Given the description of an element on the screen output the (x, y) to click on. 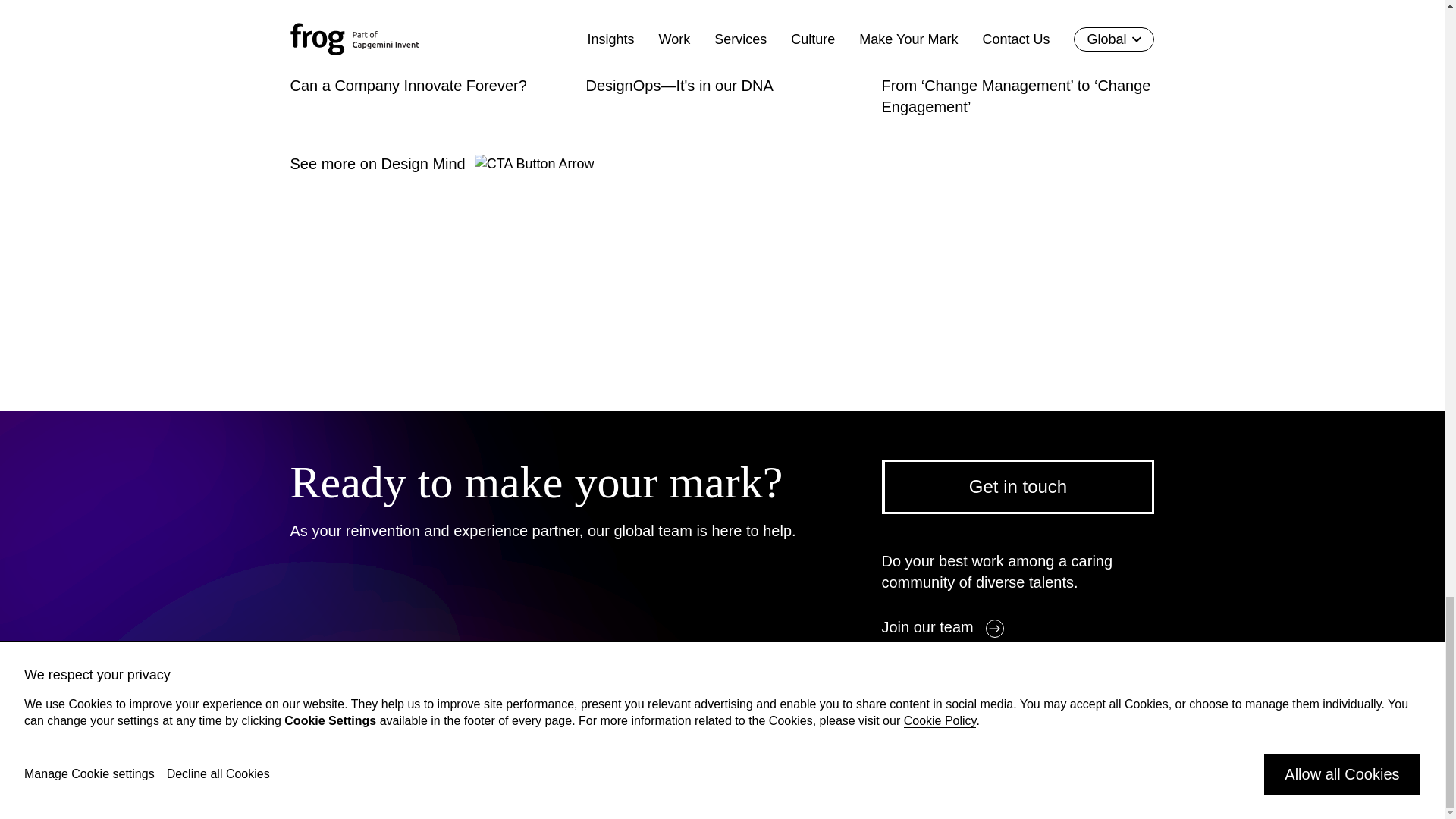
Join our team (941, 627)
Can a Company Innovate Forever? (424, 58)
Studios (905, 683)
See more on Design Mind (441, 163)
Get in touch (1017, 486)
Play (1139, 683)
Culture (992, 683)
See more on Design Mind  (441, 163)
